Given the description of an element on the screen output the (x, y) to click on. 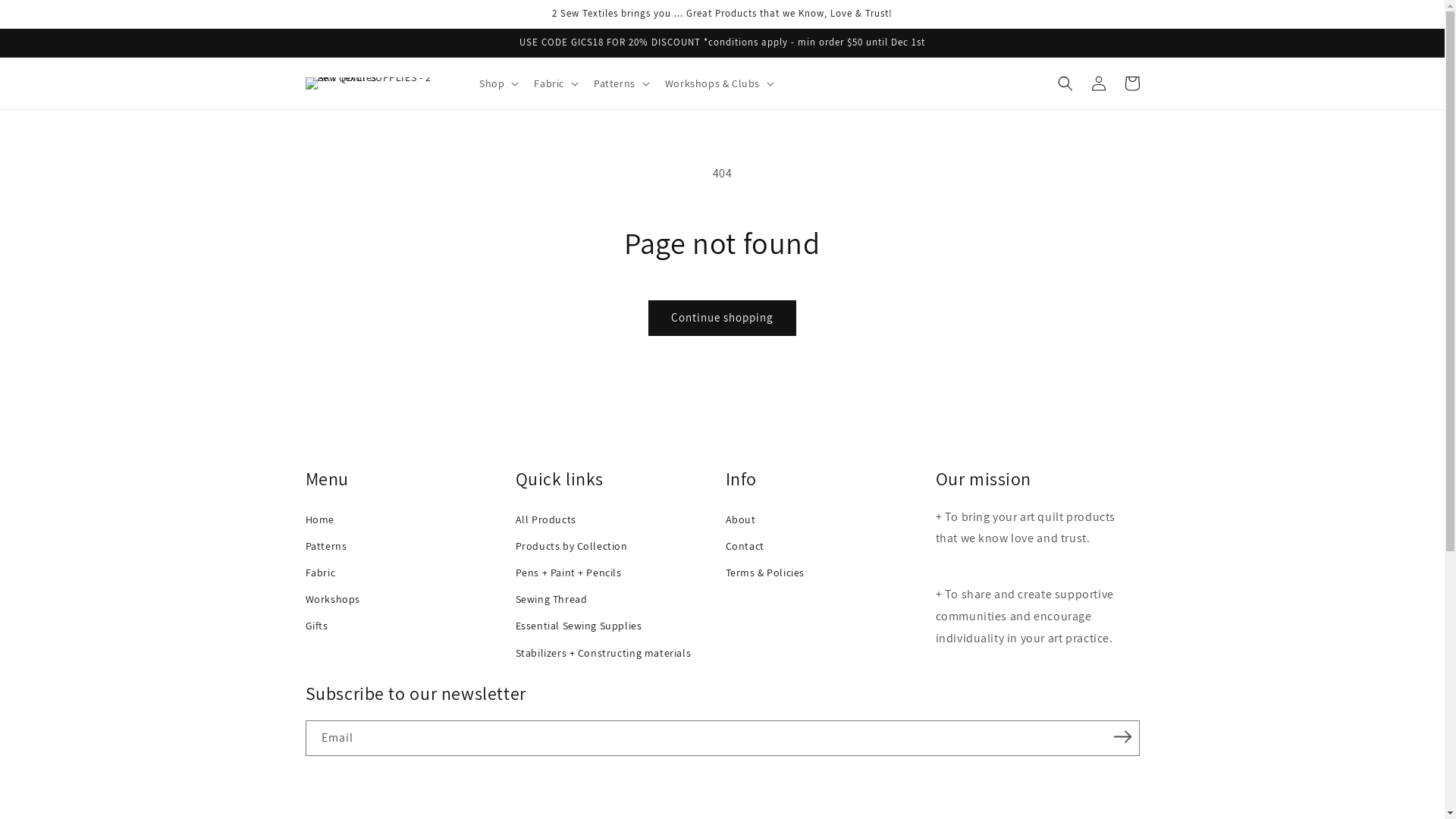
Products by Collection Element type: text (617, 546)
Continue shopping Element type: text (722, 317)
Log in Element type: text (1097, 83)
Fabric Element type: text (406, 572)
Contact Element type: text (826, 546)
Patterns Element type: text (406, 546)
Sewing Thread Element type: text (617, 599)
Workshops Element type: text (406, 599)
Terms & Policies Element type: text (826, 572)
Stabilizers + Constructing materials Element type: text (617, 653)
Home Element type: text (406, 519)
Cart Element type: text (1131, 83)
Pens + Paint + Pencils Element type: text (617, 572)
Essential Sewing Supplies Element type: text (617, 625)
Gifts Element type: text (406, 625)
About Element type: text (826, 519)
All Products Element type: text (617, 519)
